Given the description of an element on the screen output the (x, y) to click on. 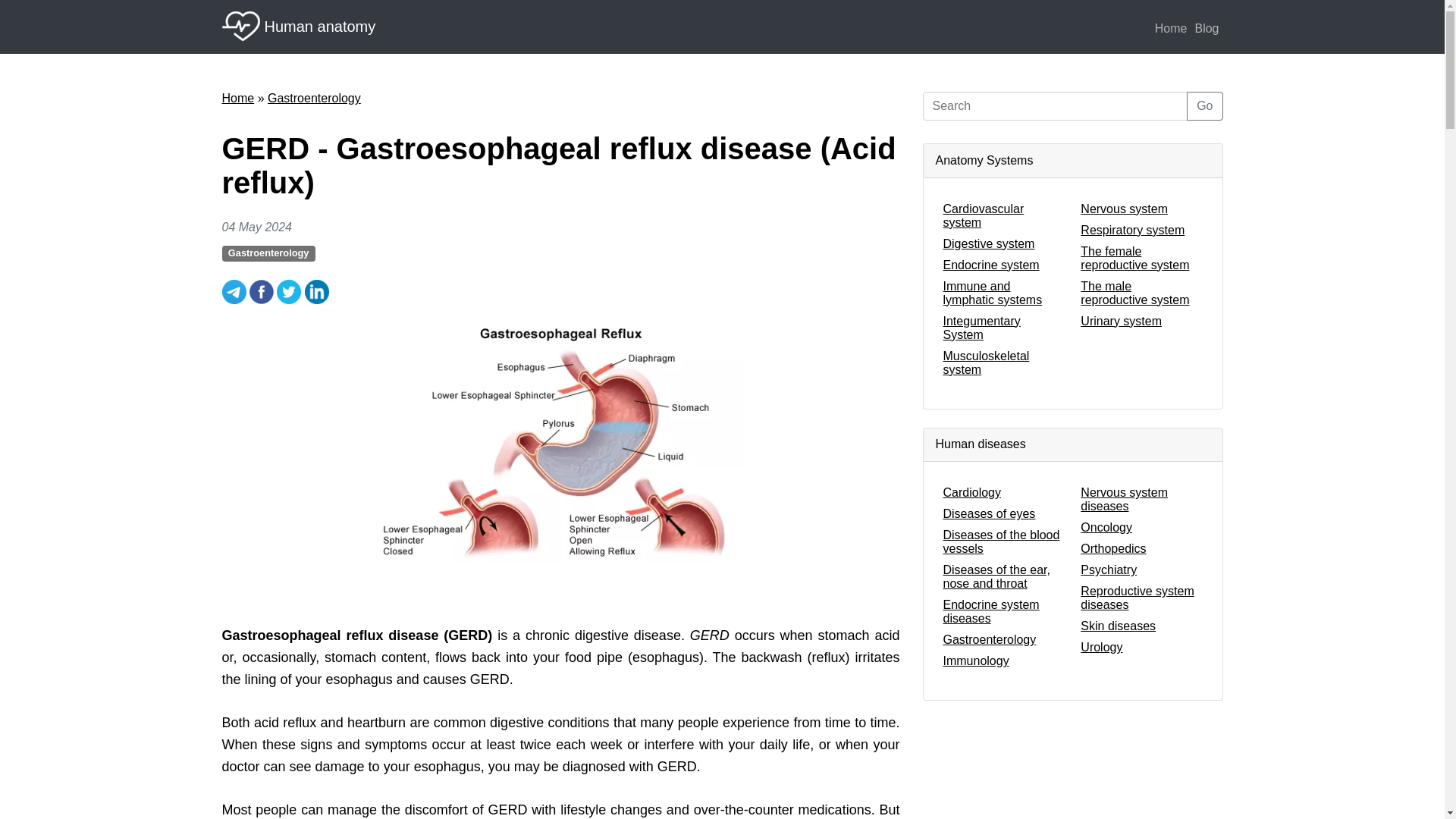
Home (1171, 29)
Gastroenterology (267, 253)
Blog (1205, 29)
Gastroenterology (314, 97)
Go (1204, 105)
Home (237, 97)
Human anatomy (298, 26)
